Given the description of an element on the screen output the (x, y) to click on. 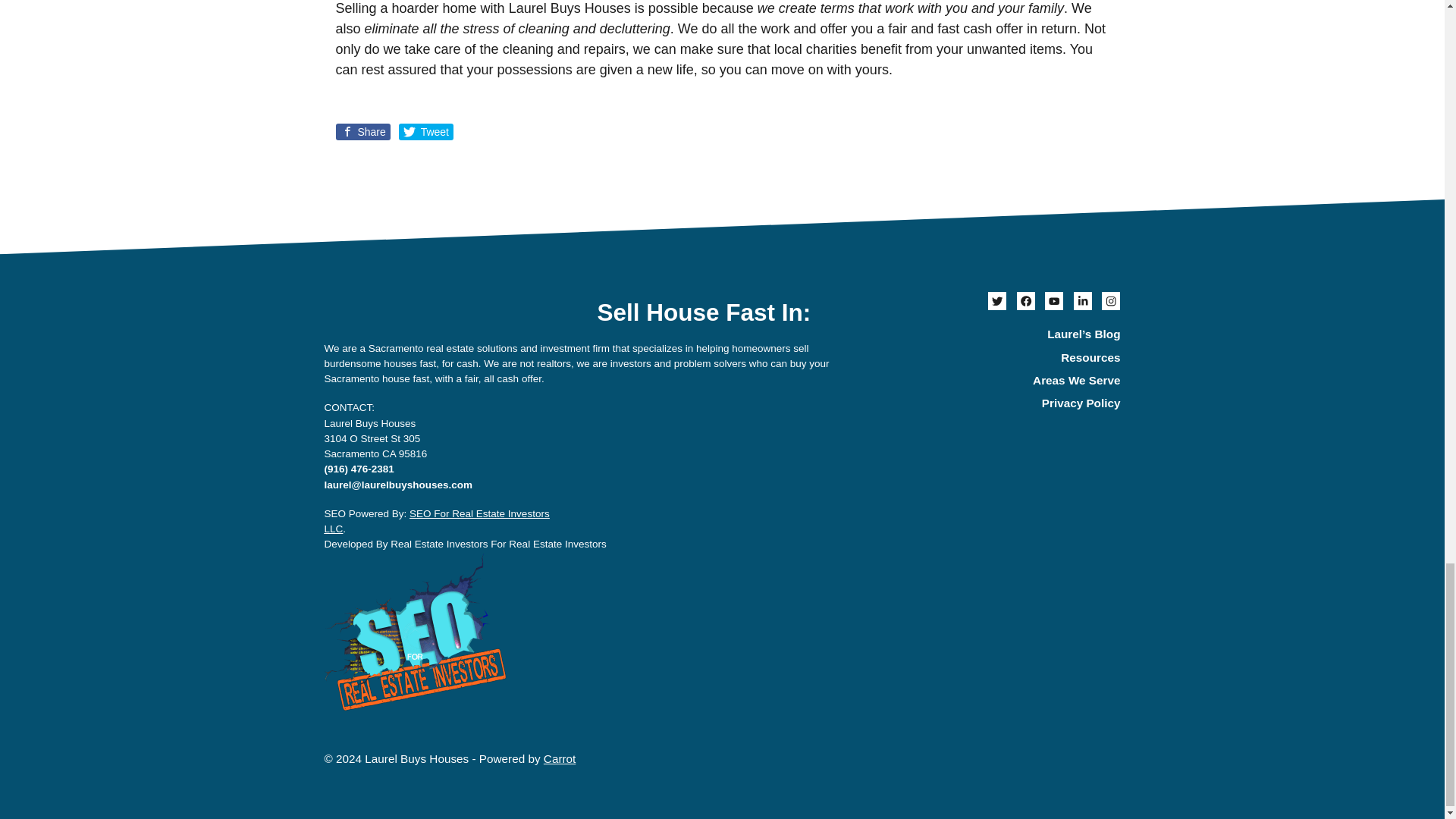
Tweet (425, 131)
Facebook (1025, 300)
Privacy Policy (995, 403)
YouTube (1053, 300)
LinkedIn (1083, 300)
Resources (995, 357)
Areas We Serve (995, 380)
Twitter (997, 300)
Share (437, 520)
